Given the description of an element on the screen output the (x, y) to click on. 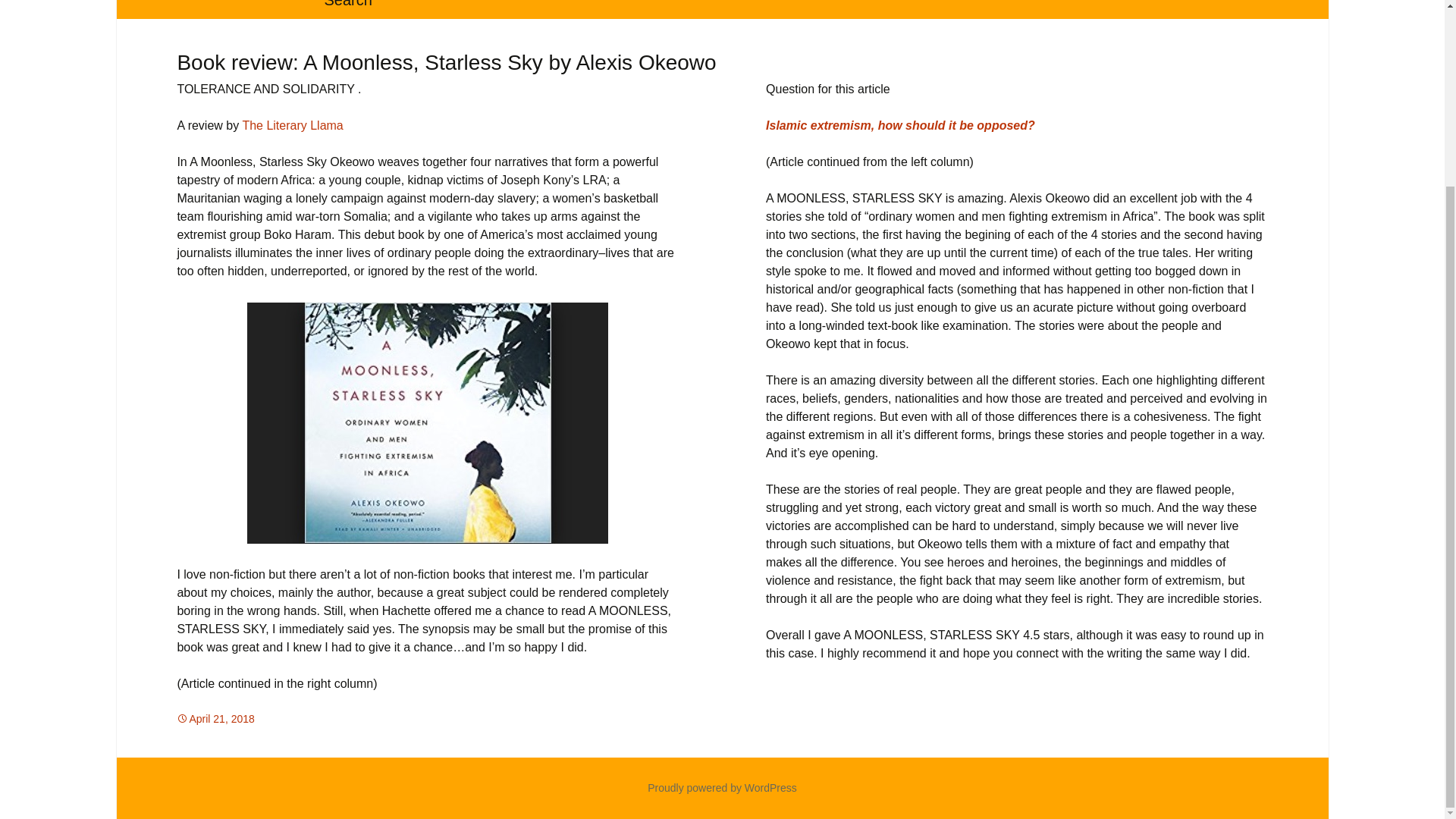
Africa (288, 718)
The Literary Llama (291, 124)
Proudly powered by WordPress (721, 787)
April 21, 2018 (214, 718)
Islamic extremism, how should it be opposed? (900, 124)
Search (347, 9)
French (489, 9)
United Nations (853, 9)
Semantic Personal Publishing Platform (721, 787)
